Given the description of an element on the screen output the (x, y) to click on. 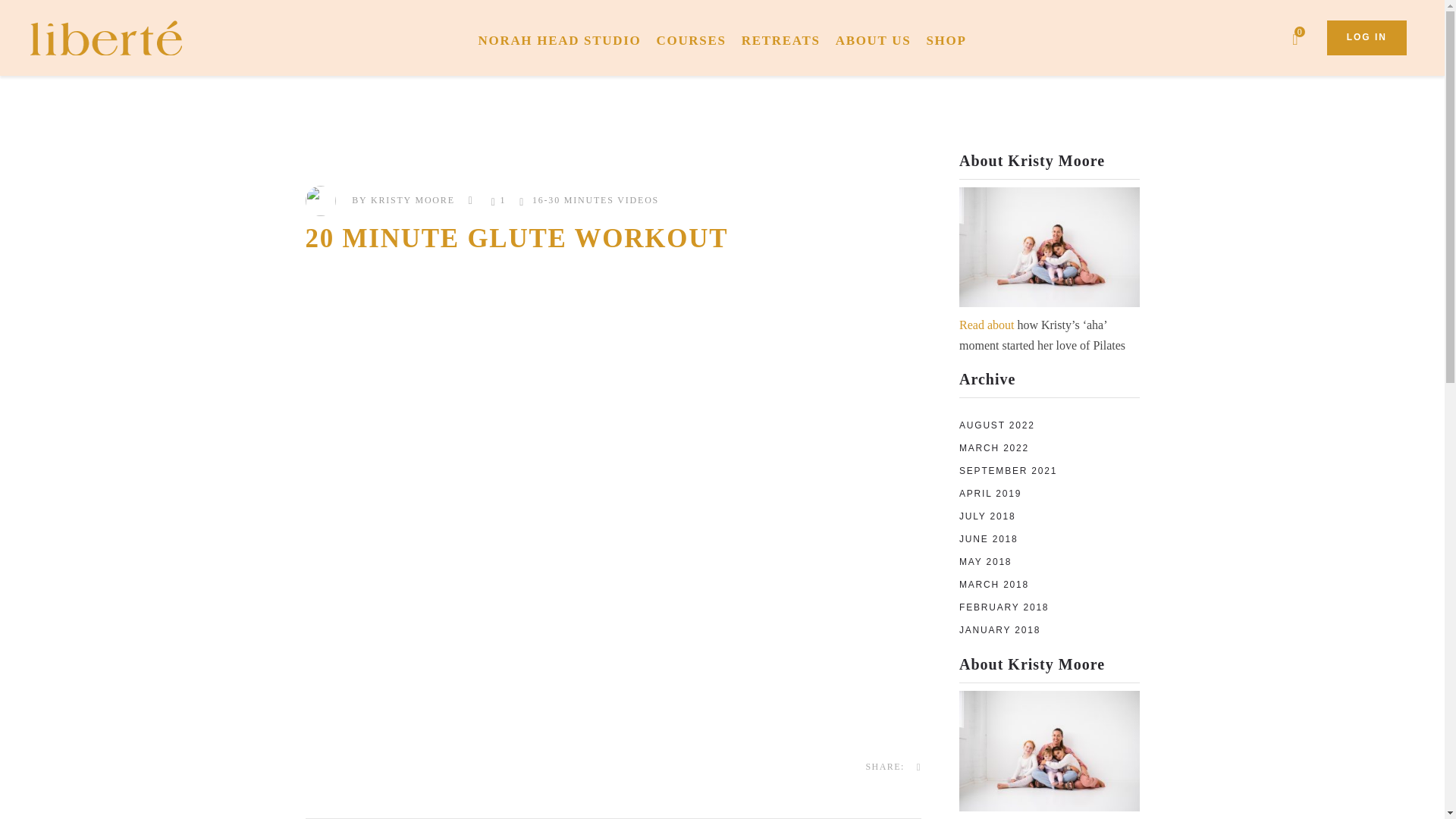
ABOUT US (877, 38)
RETREATS (784, 38)
NORAH HEAD STUDIO (563, 38)
LOG IN (1366, 37)
COURSES (694, 38)
